Given the description of an element on the screen output the (x, y) to click on. 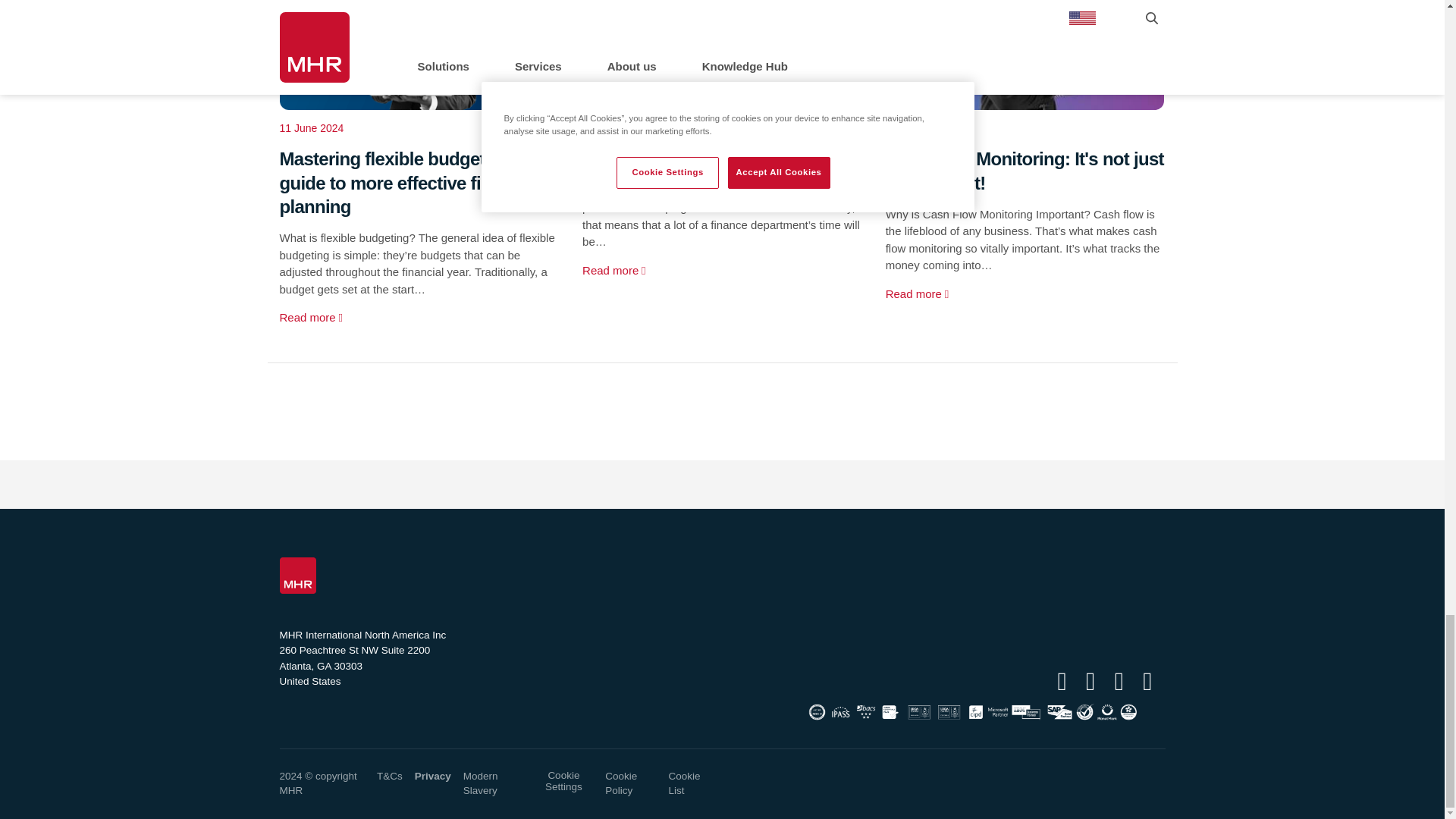
Cookie List (684, 783)
Modern Slavery (480, 783)
Cookie Settings (564, 780)
Privacy (432, 776)
Cookie Policy (621, 783)
